Given the description of an element on the screen output the (x, y) to click on. 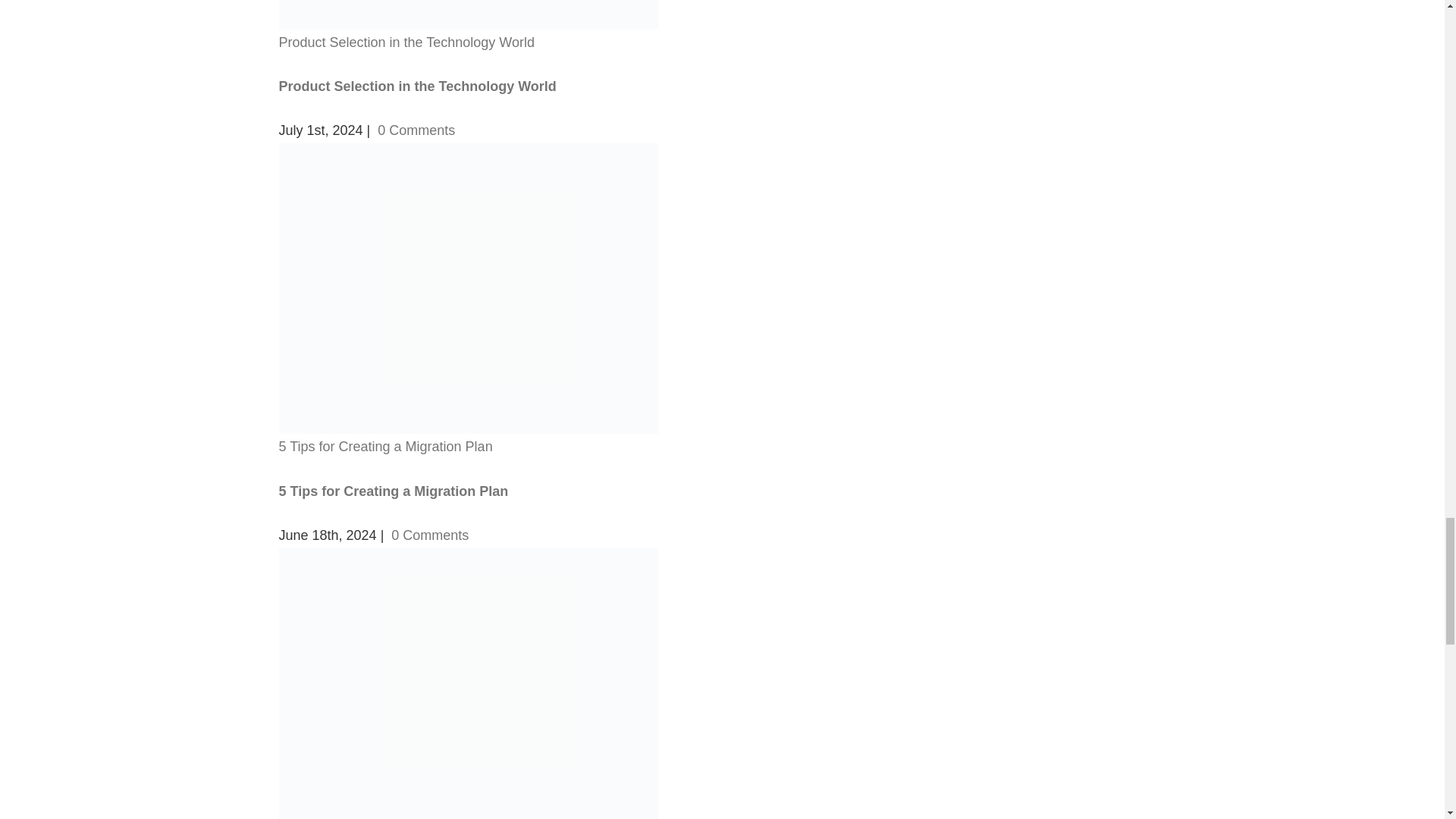
Product Selection in the Technology World (407, 42)
Product Selection in the Technology World (417, 86)
5 Tips for Creating a Migration Plan (393, 491)
5 Tips for Creating a Migration Plan (386, 446)
Product Selection in the Technology World (417, 86)
0 Comments (415, 130)
5 Tips for Creating a Migration Plan (393, 491)
0 Comments (429, 534)
